Given the description of an element on the screen output the (x, y) to click on. 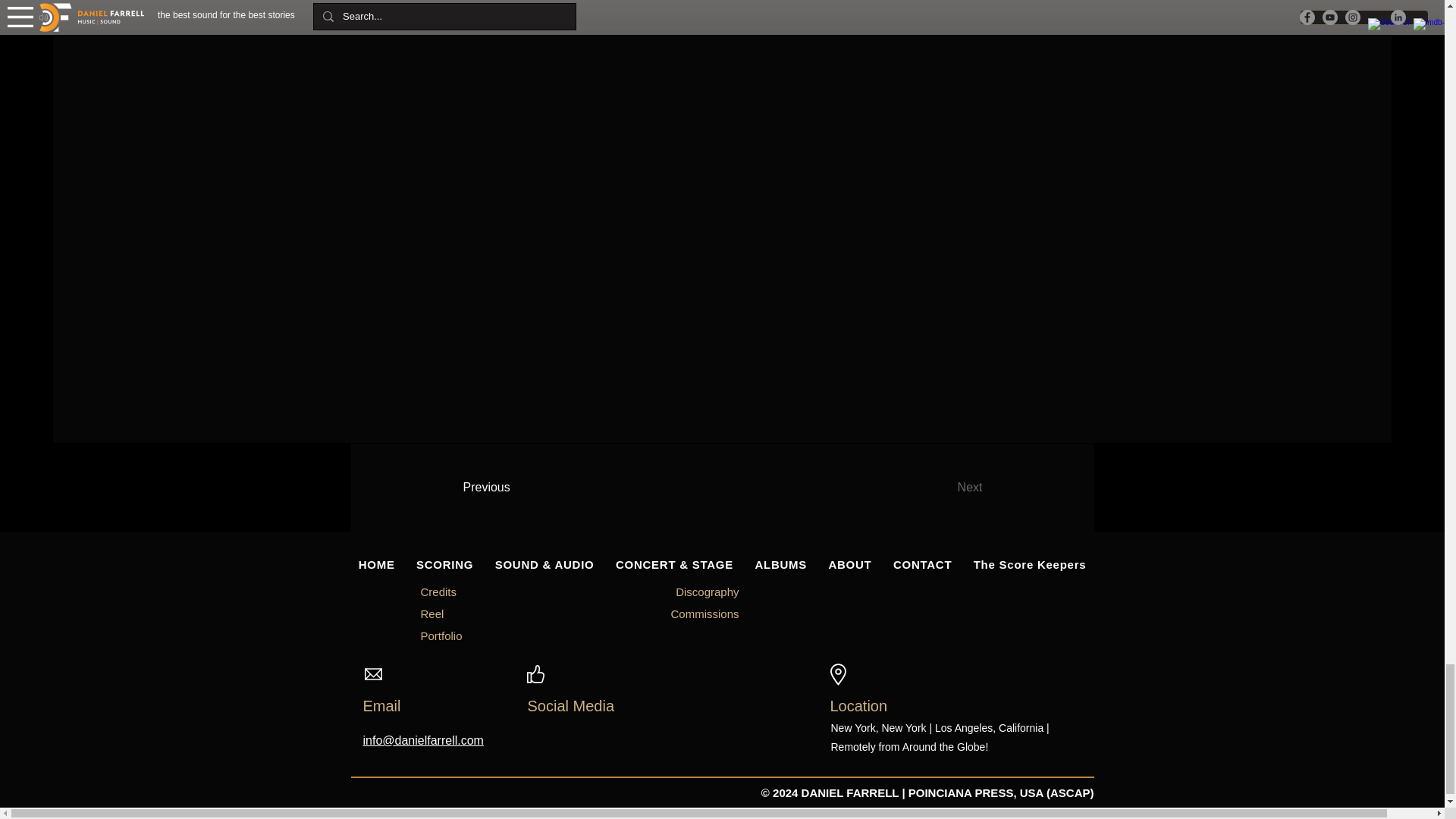
ALBUMS (779, 564)
CONTACT (922, 564)
Next (930, 487)
Credits (438, 591)
Commissions (703, 613)
HOME (375, 564)
SCORING (445, 564)
Reel (432, 613)
The Score Keepers (1030, 564)
ABOUT (850, 564)
